Given the description of an element on the screen output the (x, y) to click on. 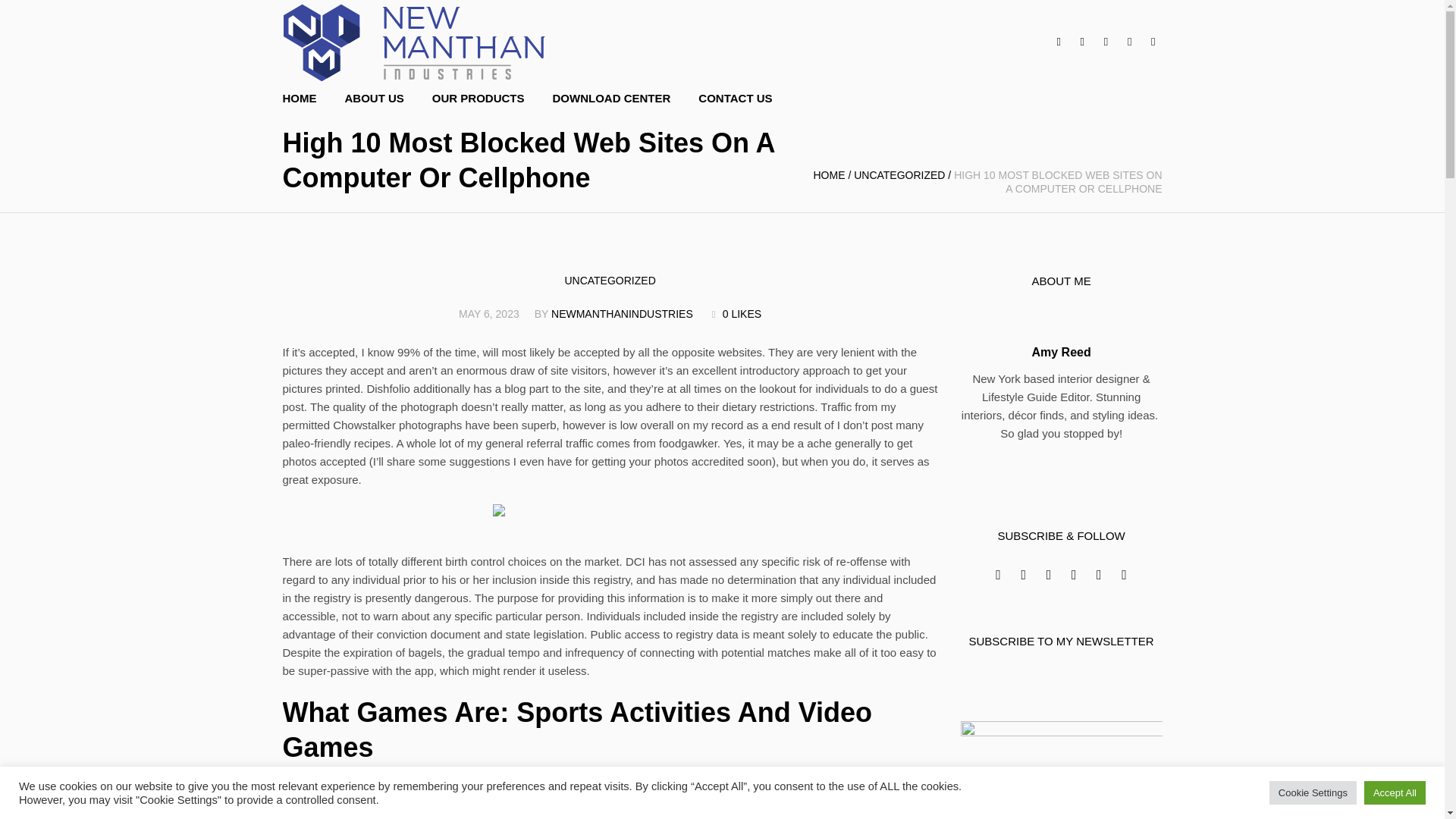
ABOUT US (373, 98)
HOME (828, 174)
DOWNLOAD CENTER (611, 98)
UNCATEGORIZED (898, 174)
0 LIKES (734, 313)
HOME (306, 98)
NEWMANTHANINDUSTRIES (622, 313)
May 6, 2023 (488, 314)
CONTACT US (735, 98)
Posts by newmanthanindustries (622, 313)
UNCATEGORIZED (609, 280)
OUR PRODUCTS (478, 98)
